Given the description of an element on the screen output the (x, y) to click on. 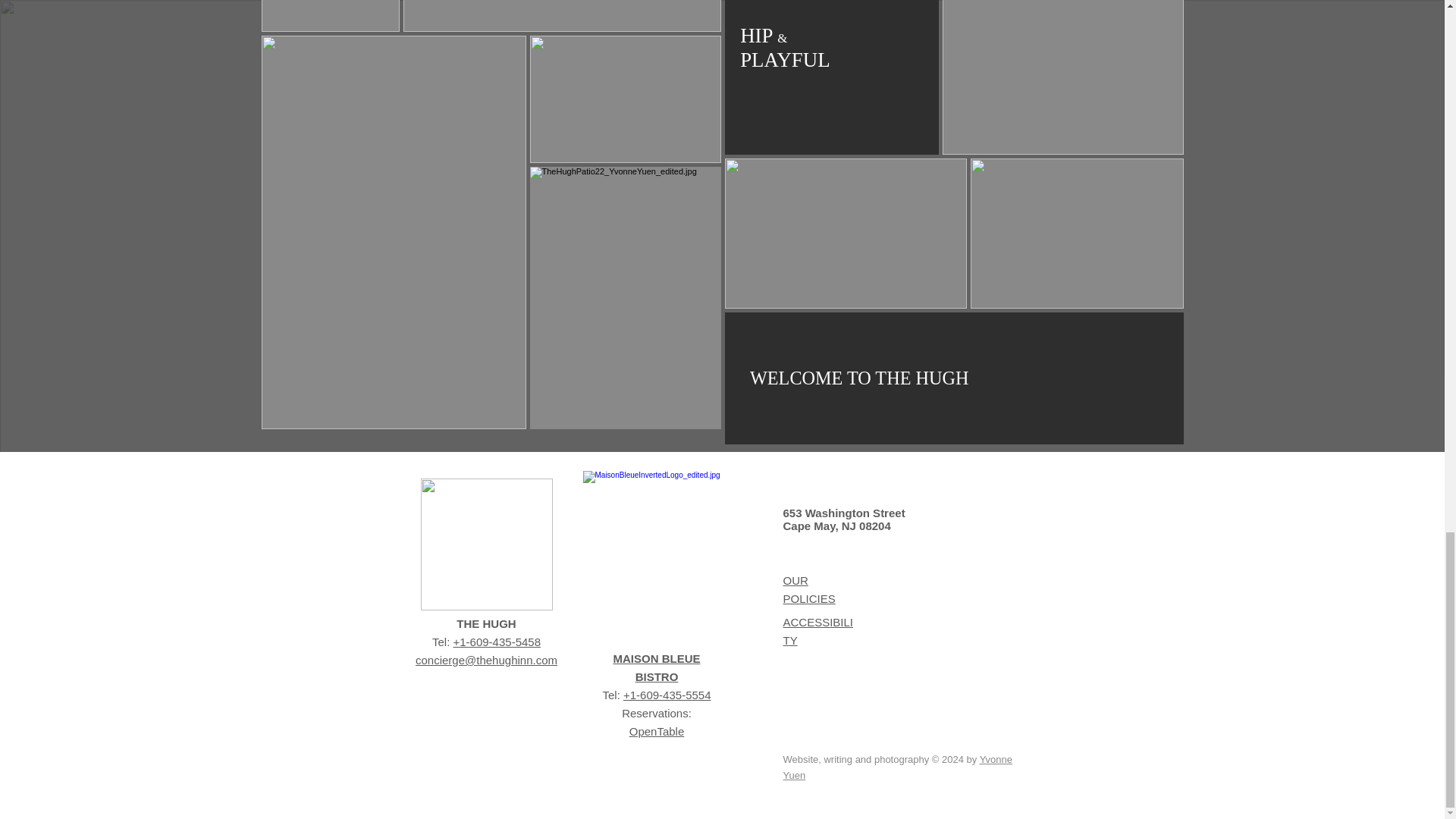
OpenTable (656, 730)
OUR POLICIES (808, 589)
ACCESSIBILITY (818, 631)
Yvonne Yuen (897, 767)
MAISON BLEUE BISTRO (656, 667)
